Given the description of an element on the screen output the (x, y) to click on. 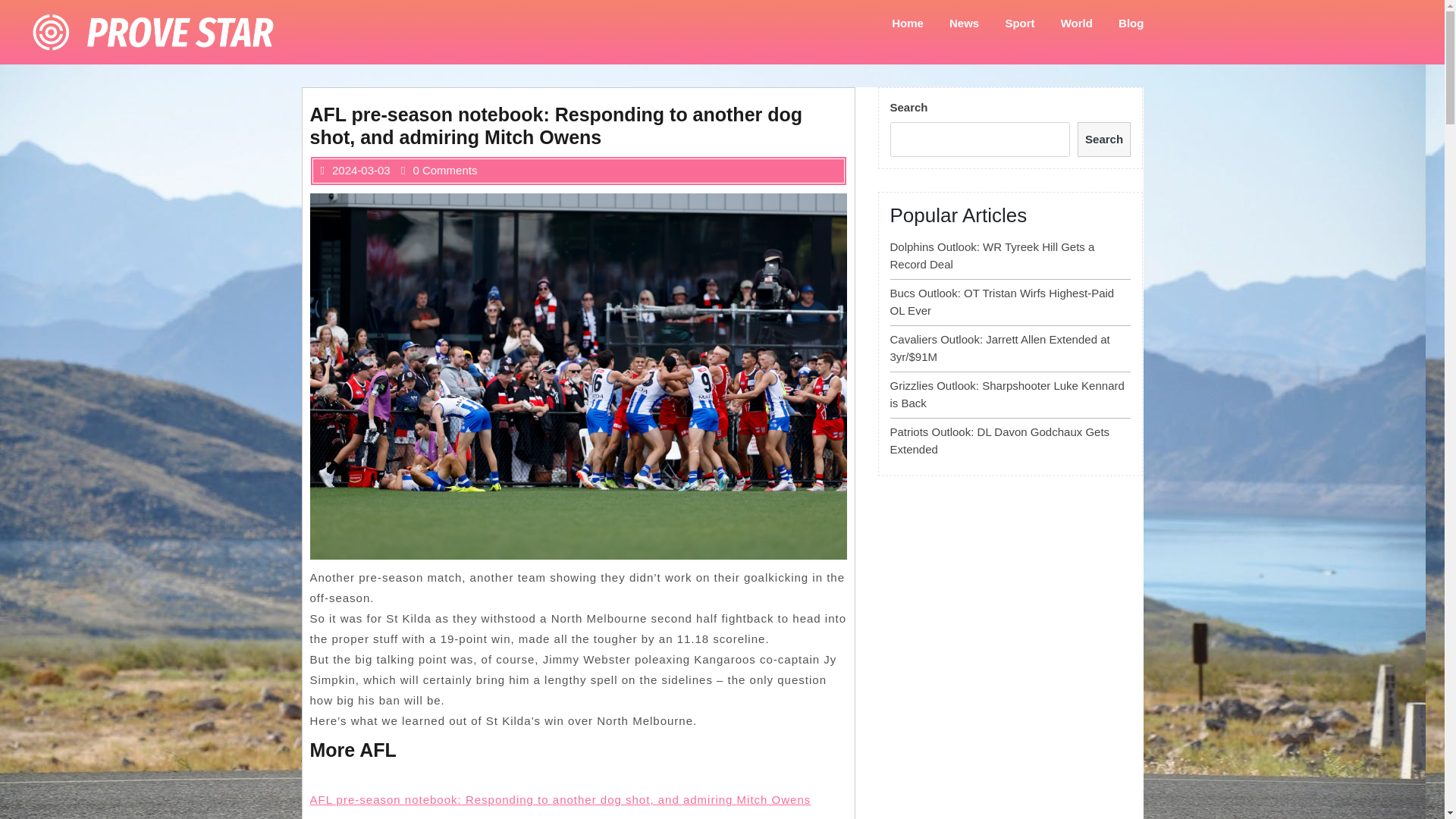
Blog (1130, 23)
Sport (1018, 23)
World (1076, 23)
News (963, 23)
Home (907, 23)
